Given the description of an element on the screen output the (x, y) to click on. 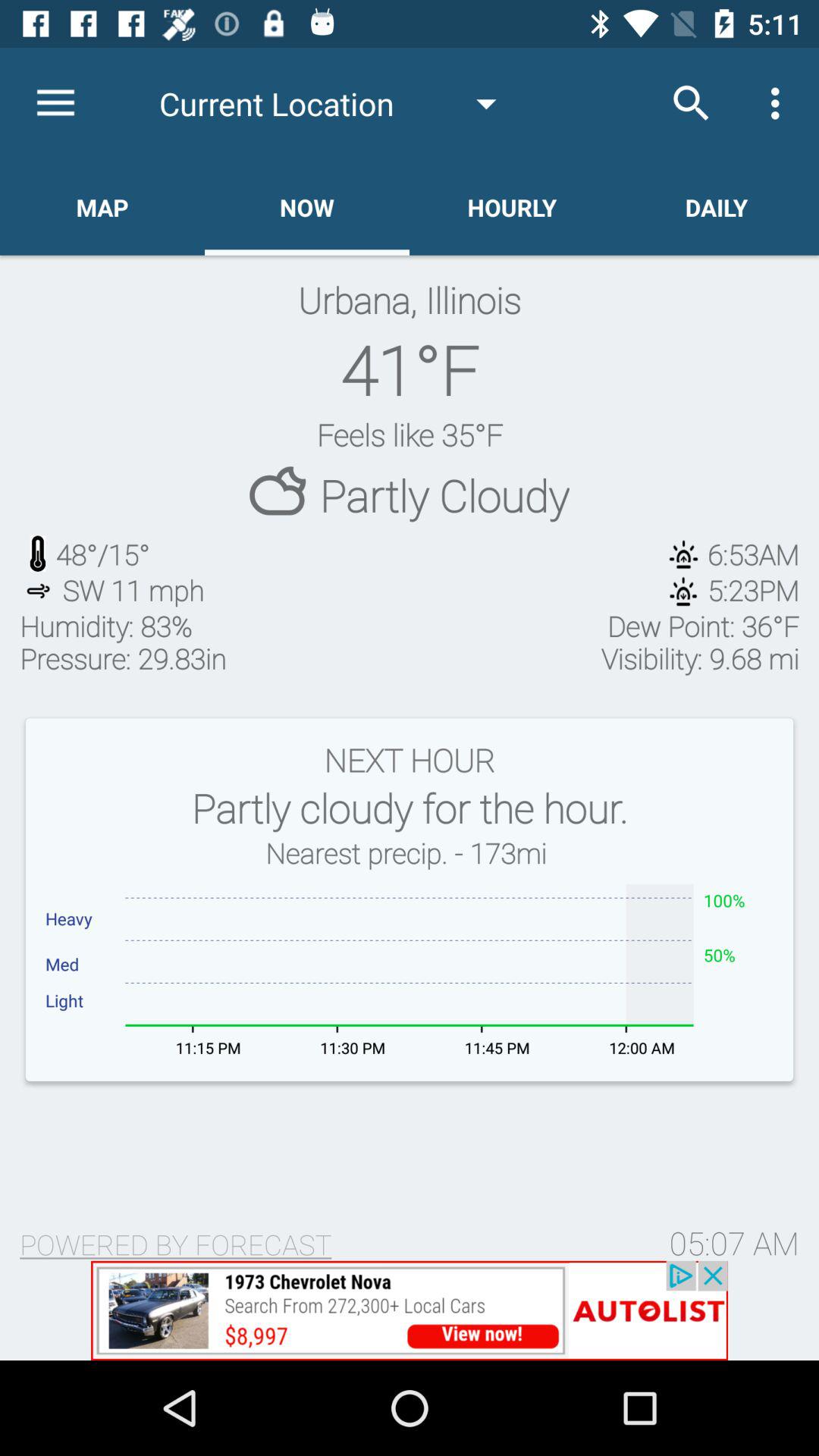
go to now (306, 207)
